Given the description of an element on the screen output the (x, y) to click on. 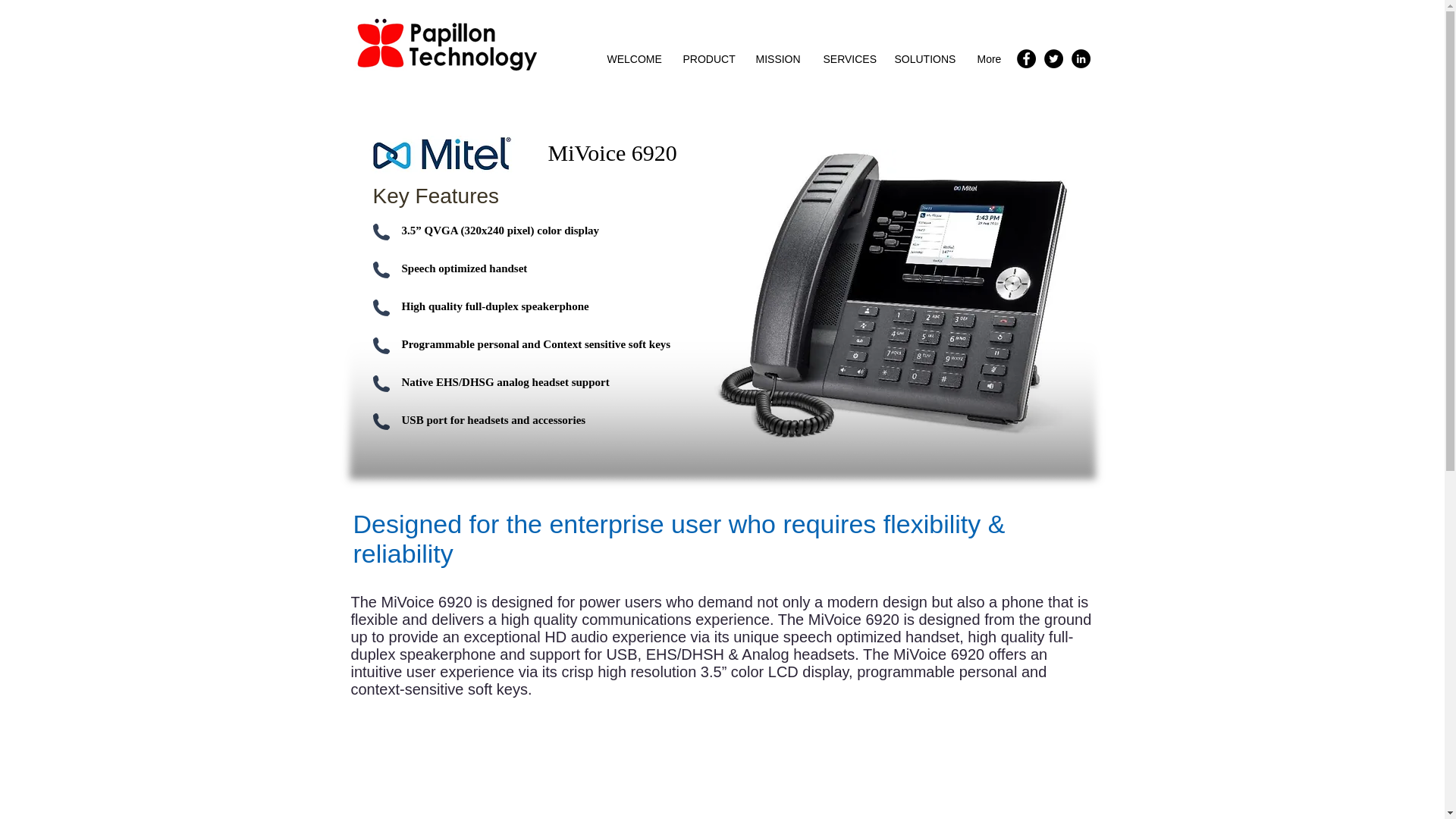
SERVICES (846, 59)
MISSION (778, 59)
SOLUTIONS (923, 59)
PRODUCT (707, 59)
WELCOME (633, 59)
